Given the description of an element on the screen output the (x, y) to click on. 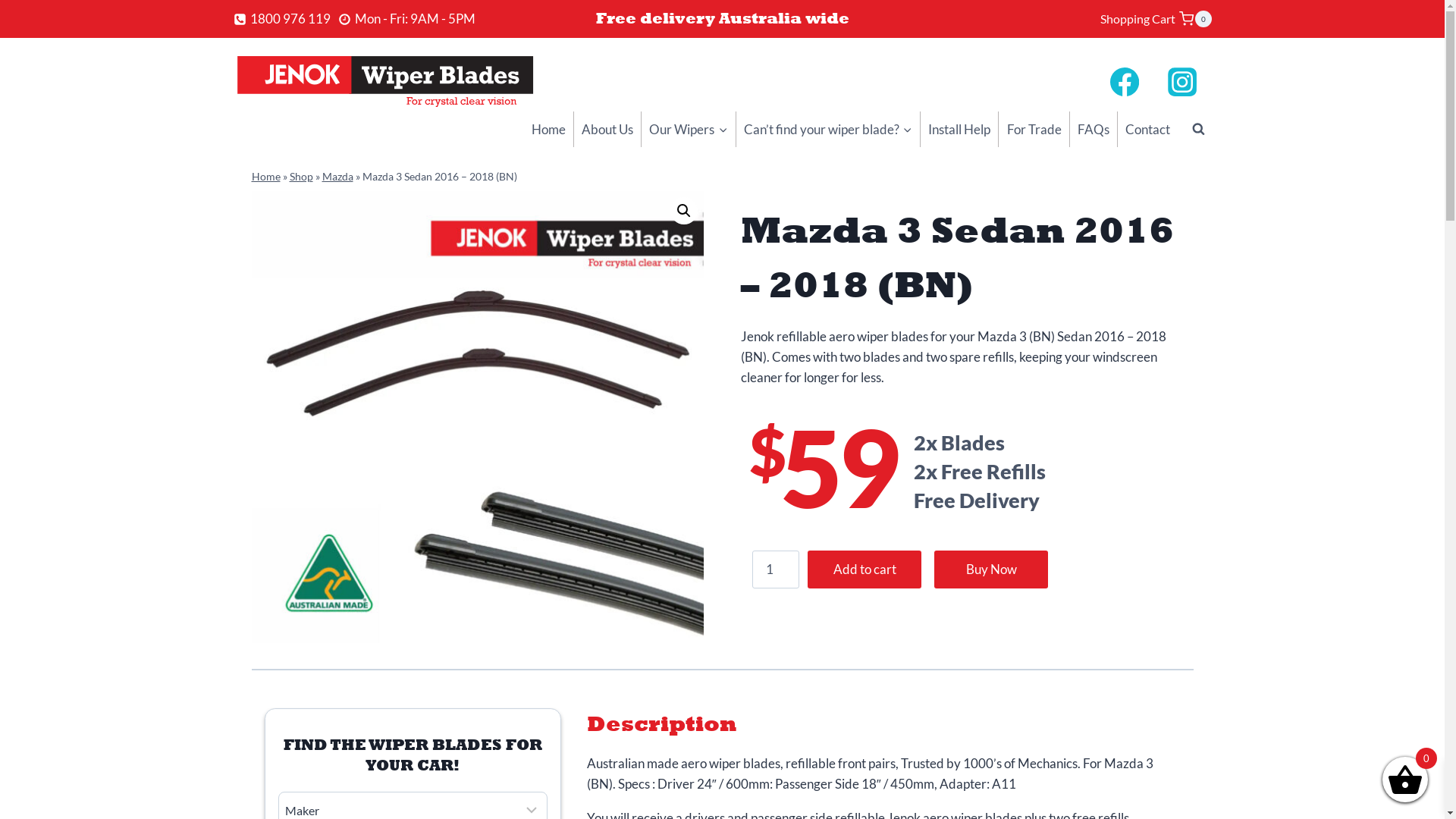
Home Element type: text (265, 175)
About Us Element type: text (607, 128)
Contact Element type: text (1147, 128)
FAQs Element type: text (1093, 128)
For Trade Element type: text (1033, 128)
Our Wipers Element type: text (687, 128)
Mazda Element type: text (336, 175)
Add to cart Element type: text (864, 569)
Buy Now Element type: text (991, 569)
Jenok Wiper Blades Element type: hover (477, 417)
Home Element type: text (547, 128)
Install Help Element type: text (958, 128)
Shop Element type: text (301, 175)
1800 976 119 Element type: text (281, 18)
Shopping Cart
0 Element type: text (1155, 19)
